Given the description of an element on the screen output the (x, y) to click on. 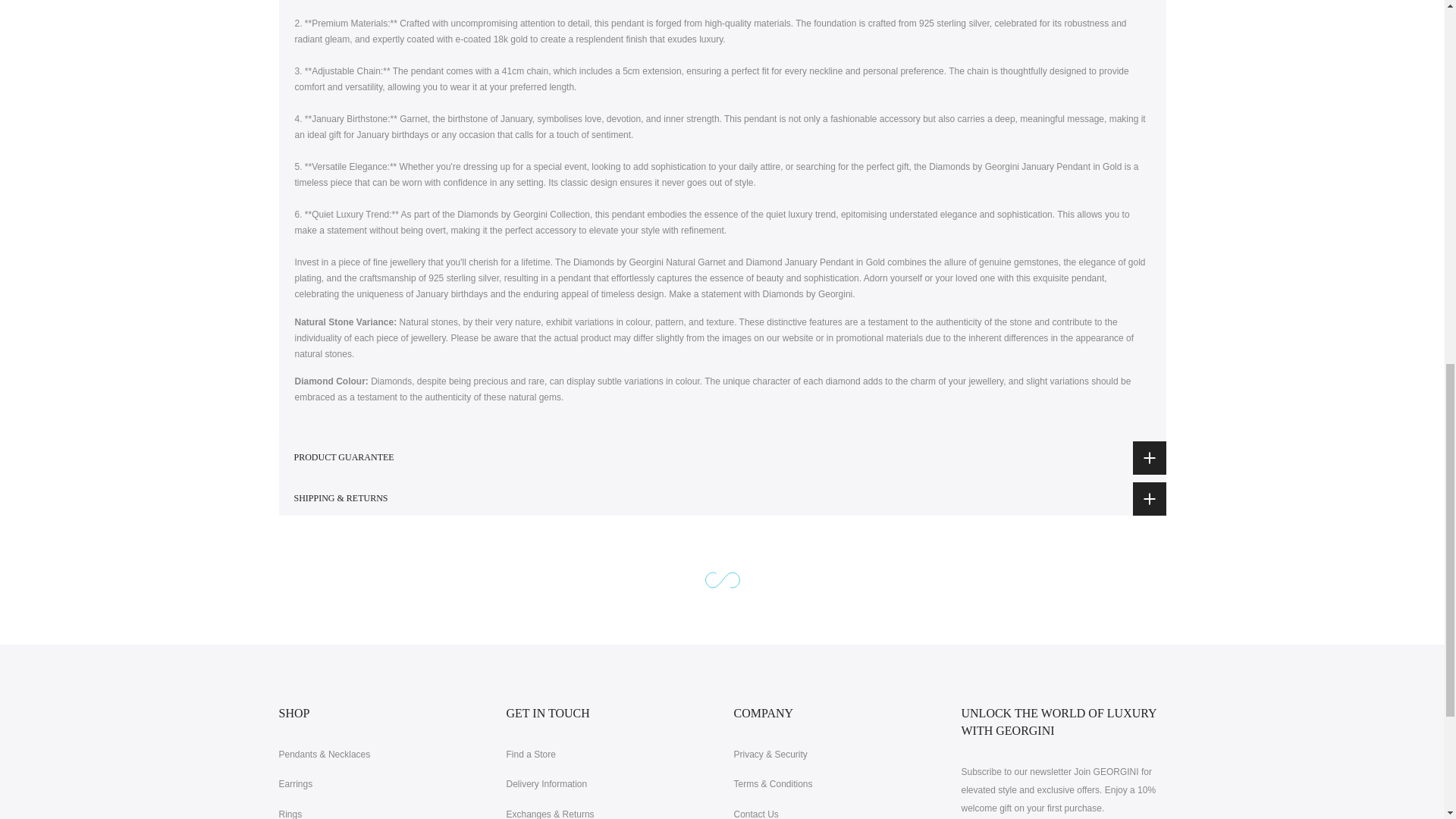
RETURN POLICY (550, 814)
TERMS AND CONDITIONS (772, 783)
RINGS (290, 814)
Earrings (296, 783)
Earrings (296, 783)
Rings (290, 814)
Contact Us (755, 814)
Delivery Information (547, 783)
Privacy Policy (770, 754)
PRODUCT GUARANTEE (722, 458)
Find a Store (531, 754)
SHIPPING (547, 783)
